Given the description of an element on the screen output the (x, y) to click on. 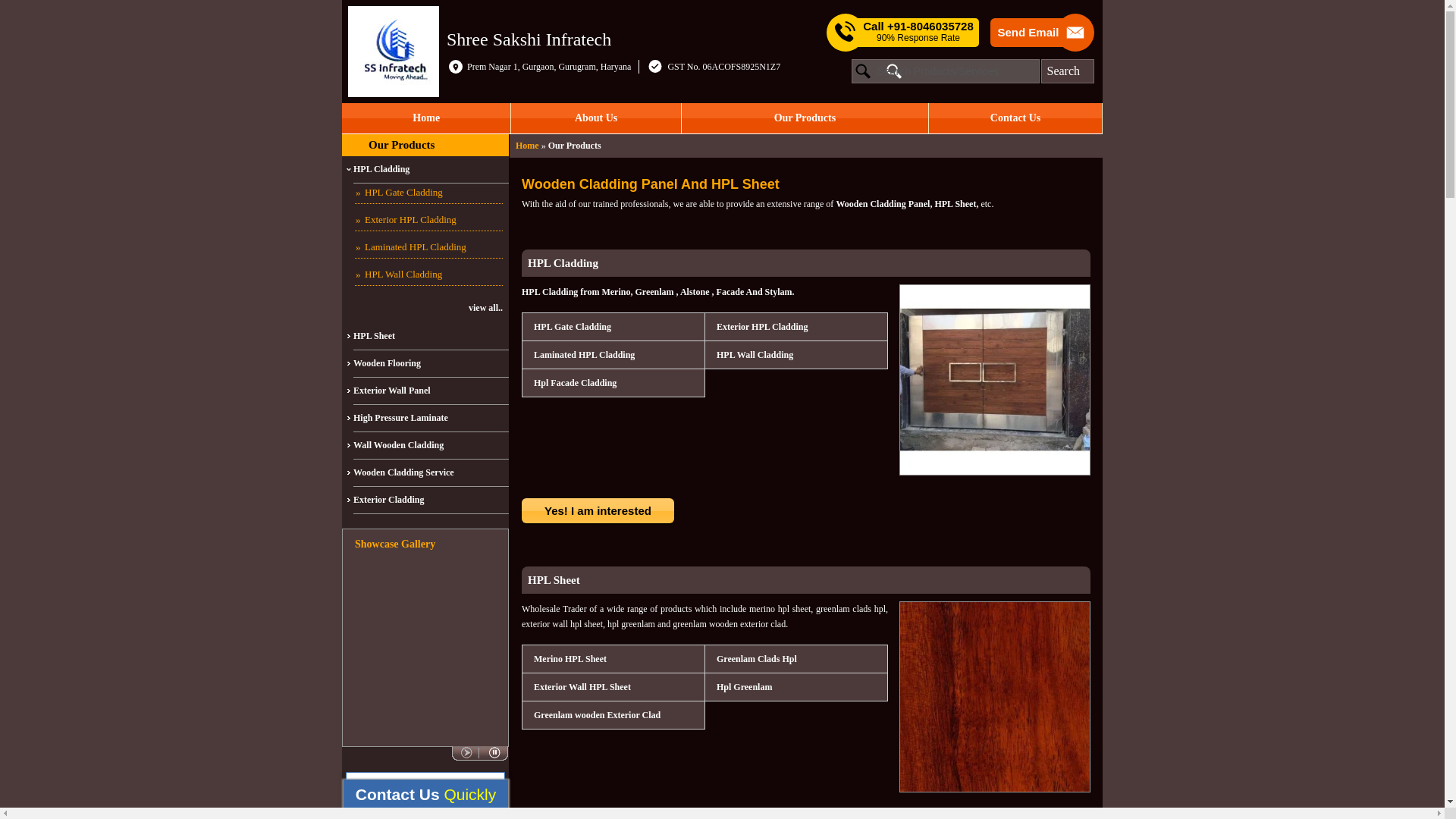
Shree Sakshi Infratech (528, 38)
Send SMS Free (917, 32)
Hpl Facade Cladding (573, 382)
Our Products (804, 118)
About Us (595, 118)
Hpl Greenlam (743, 686)
Home (526, 145)
Merino HPL Sheet (568, 658)
HPL Wall Cladding (753, 354)
Home (426, 118)
